Given the description of an element on the screen output the (x, y) to click on. 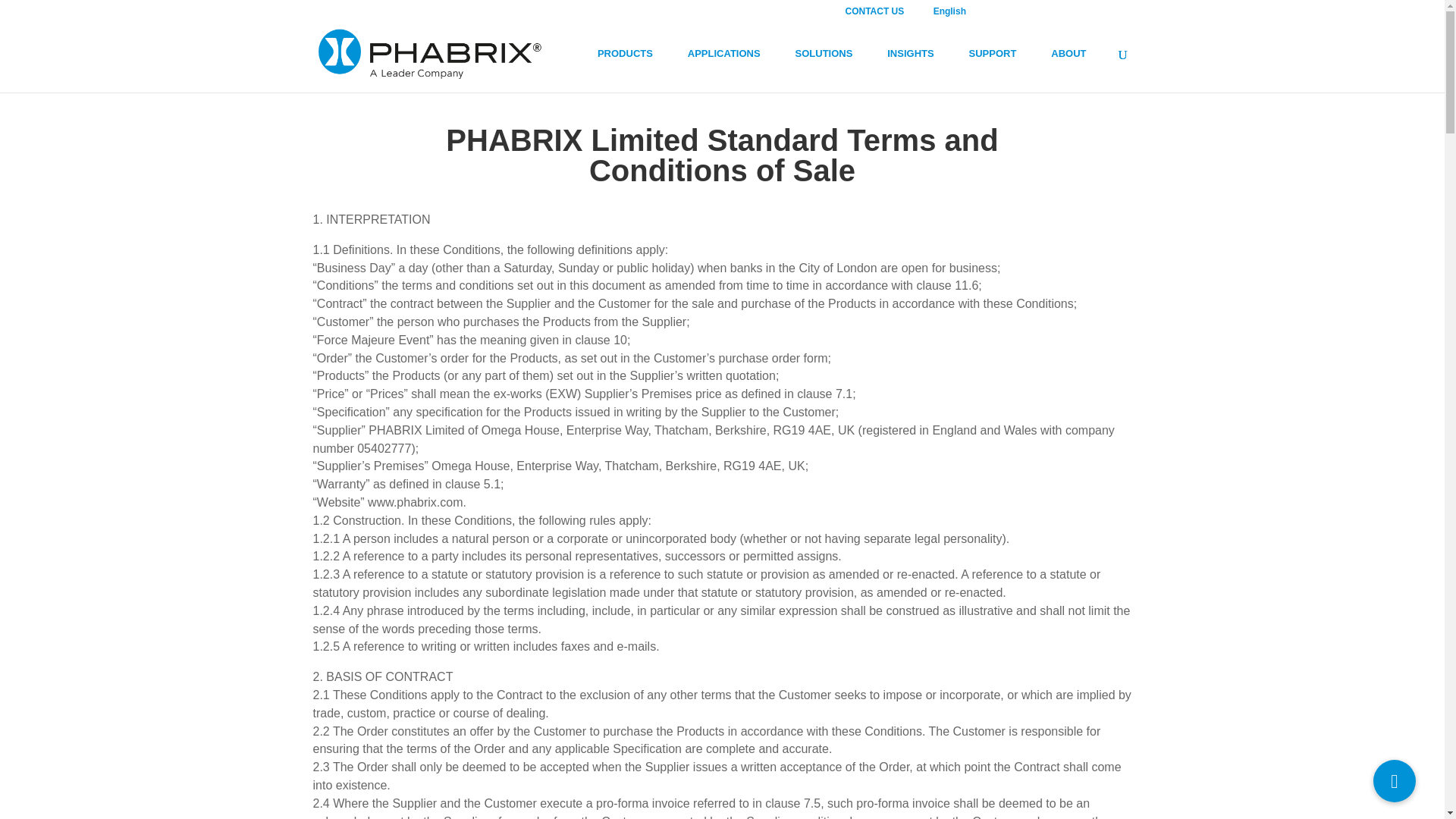
CONTACT US (881, 14)
English (957, 14)
APPLICATIONS (731, 66)
PRODUCTS (632, 66)
English (957, 14)
SOLUTIONS (830, 66)
